Given the description of an element on the screen output the (x, y) to click on. 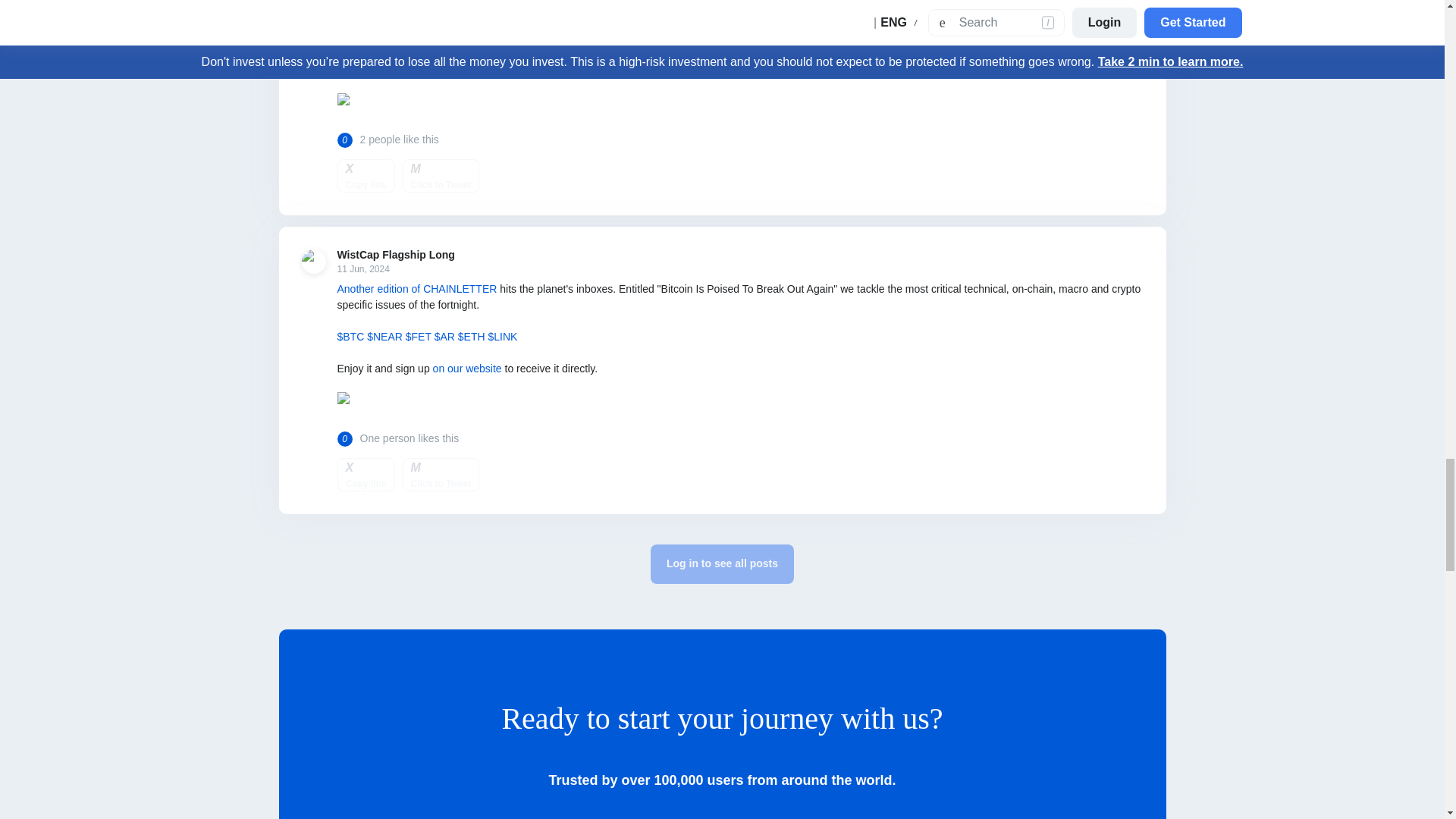
Jun 11, 2024, 4:25:09 PM (395, 268)
